Given the description of an element on the screen output the (x, y) to click on. 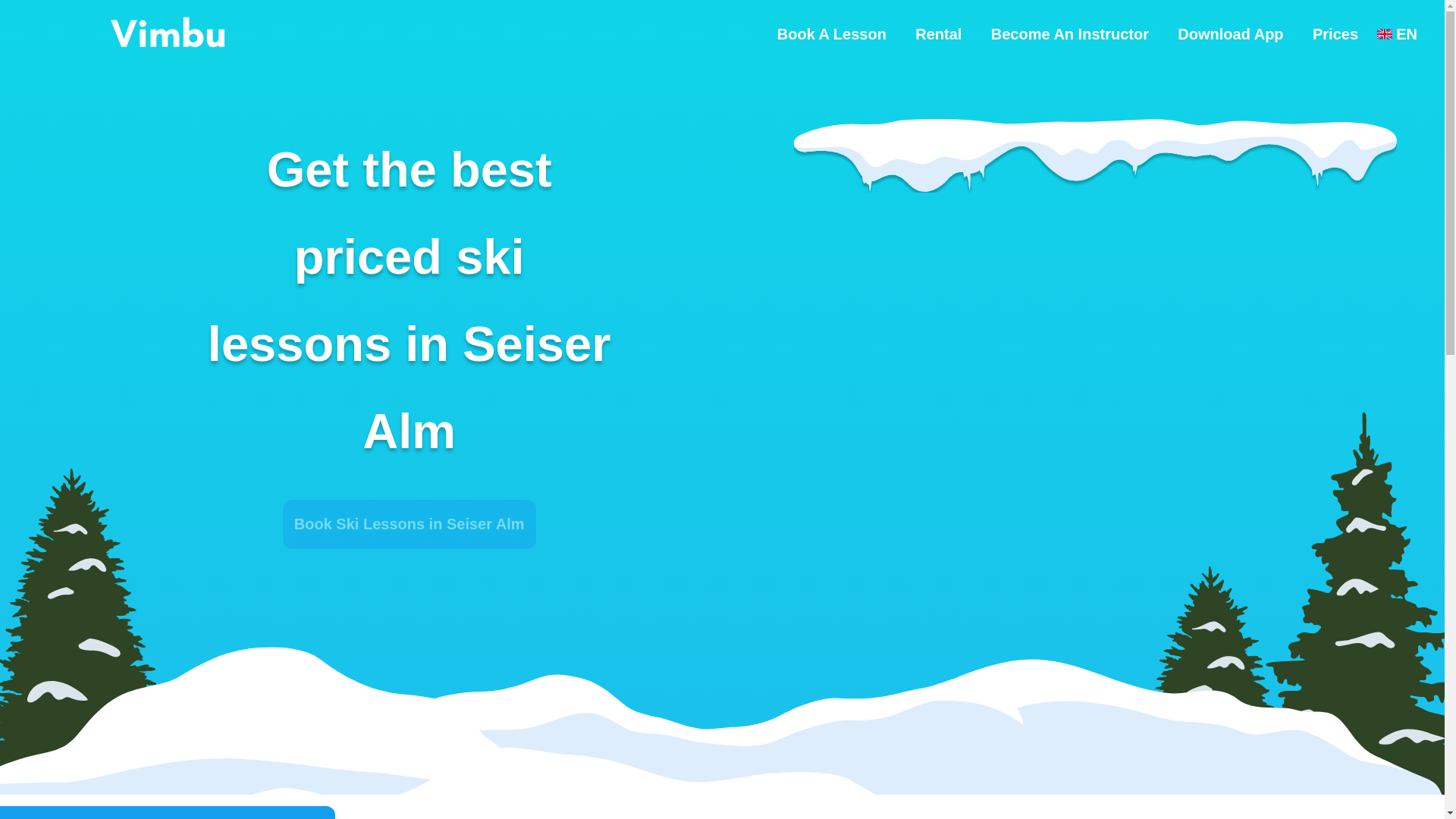
Rental (937, 33)
Download App (1229, 33)
Book A Lesson (831, 33)
EN (1397, 34)
Become An Instructor (1069, 33)
Prices (1335, 33)
Book Ski Lessons in Seiser Alm (408, 523)
